Given the description of an element on the screen output the (x, y) to click on. 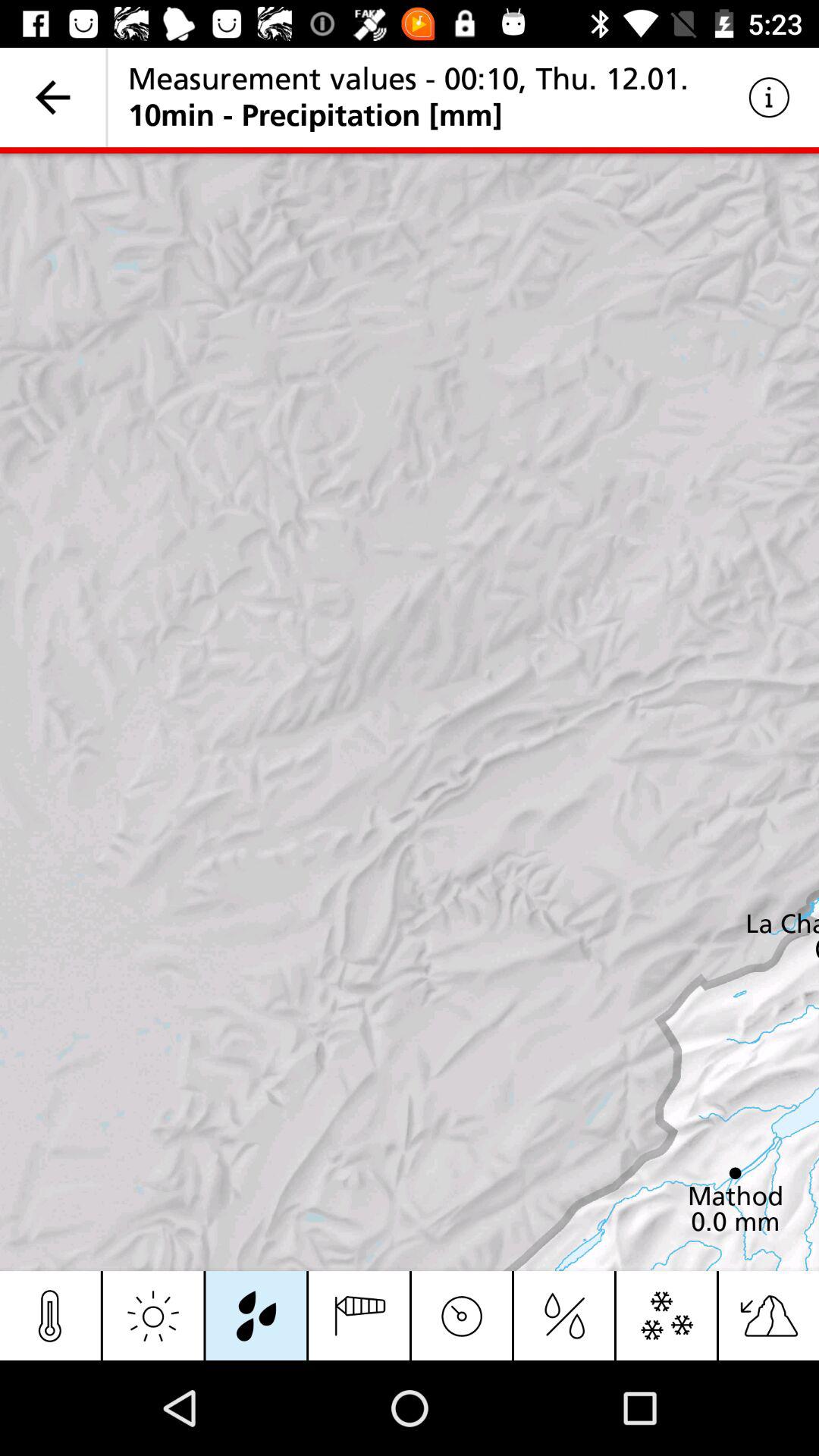
turn off item at the top left corner (52, 97)
